Given the description of an element on the screen output the (x, y) to click on. 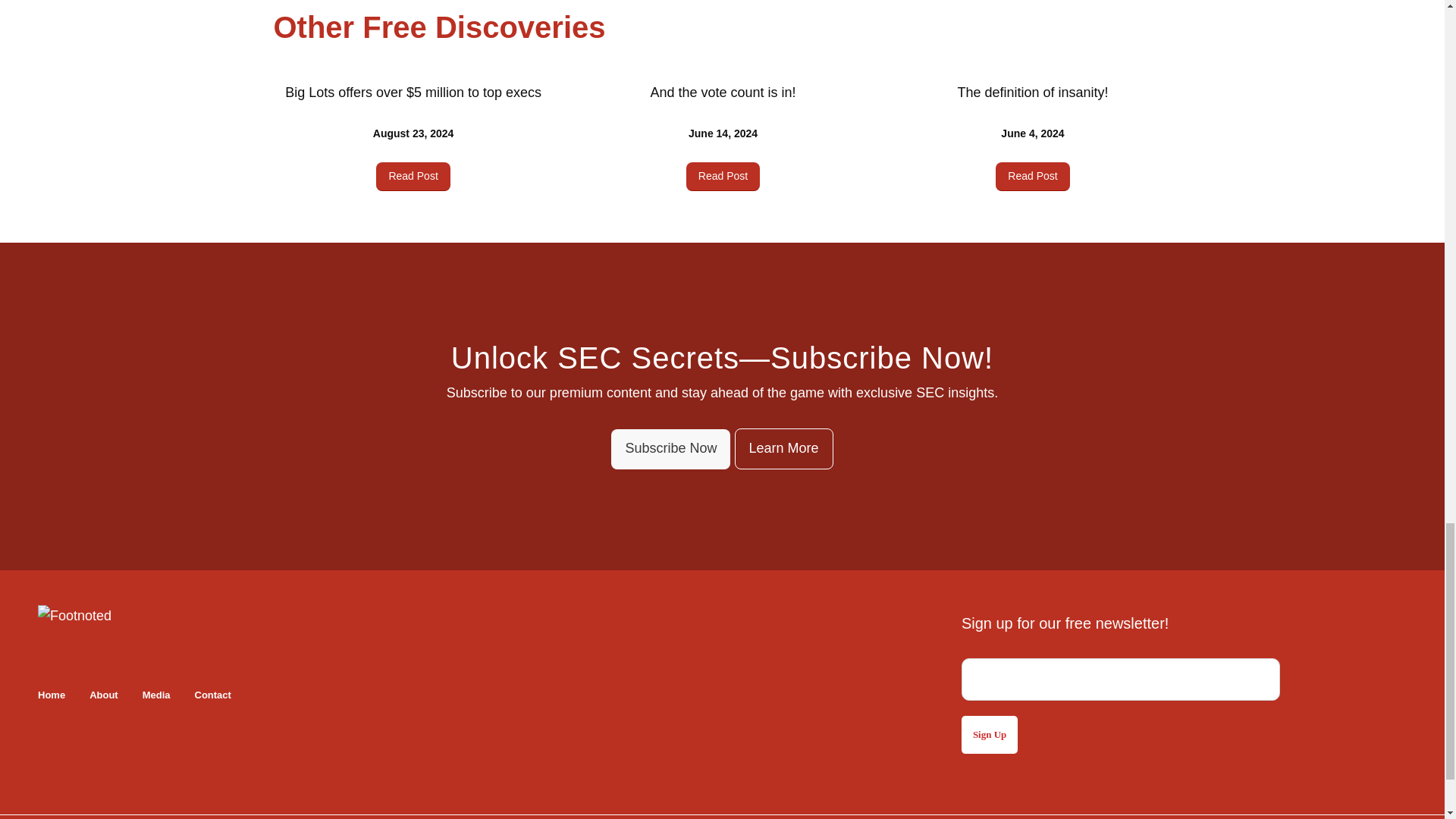
And the vote count is in! (721, 92)
The definition of insanity! (1032, 92)
Contact (213, 695)
Home (51, 695)
Sign Up (988, 734)
Subscribe Now (670, 449)
Read Post (412, 176)
Read Post (1031, 176)
Learn More (782, 448)
Email Address (1119, 679)
